Given the description of an element on the screen output the (x, y) to click on. 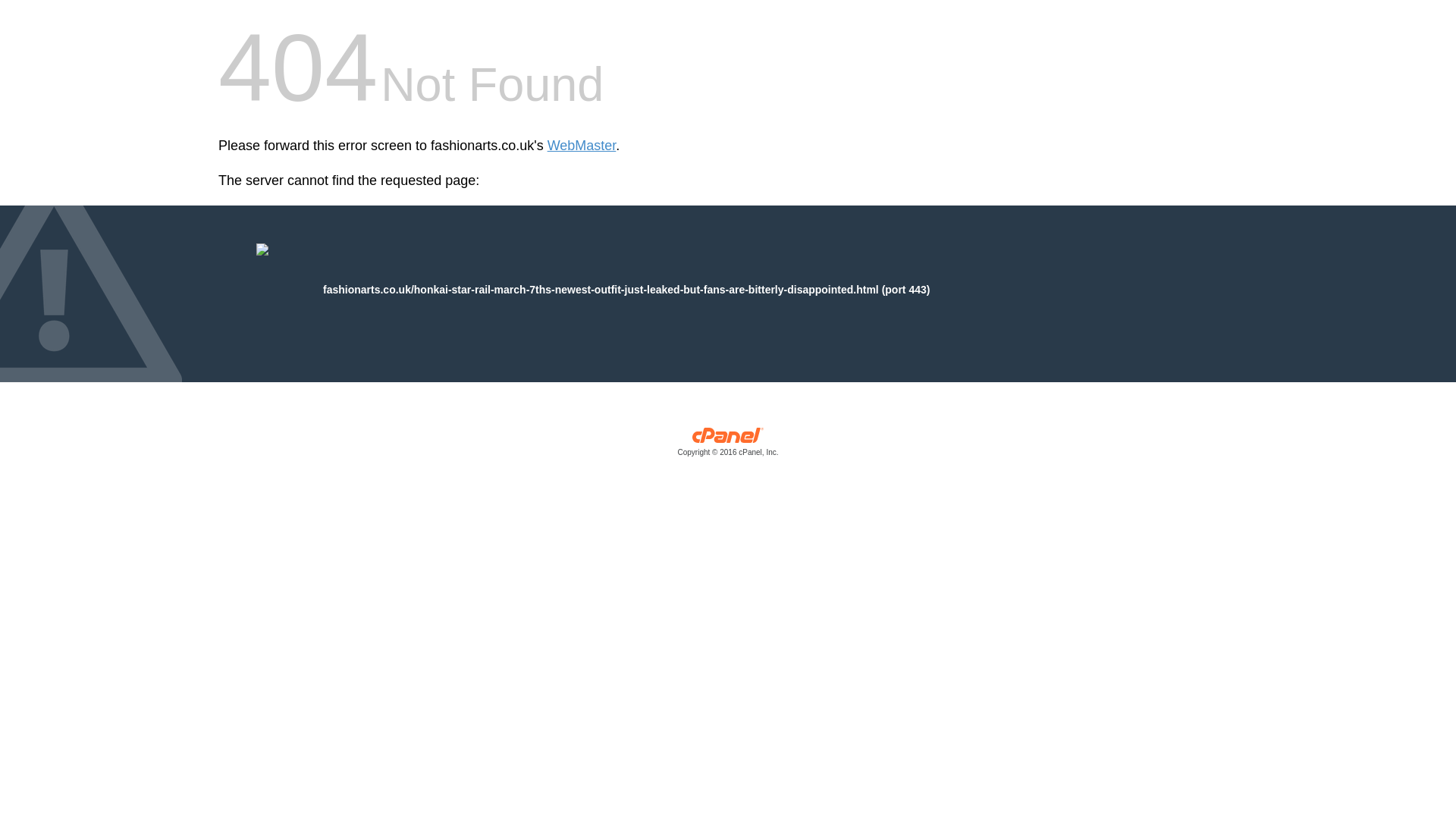
cPanel, Inc. (727, 445)
WebMaster (581, 145)
